Given the description of an element on the screen output the (x, y) to click on. 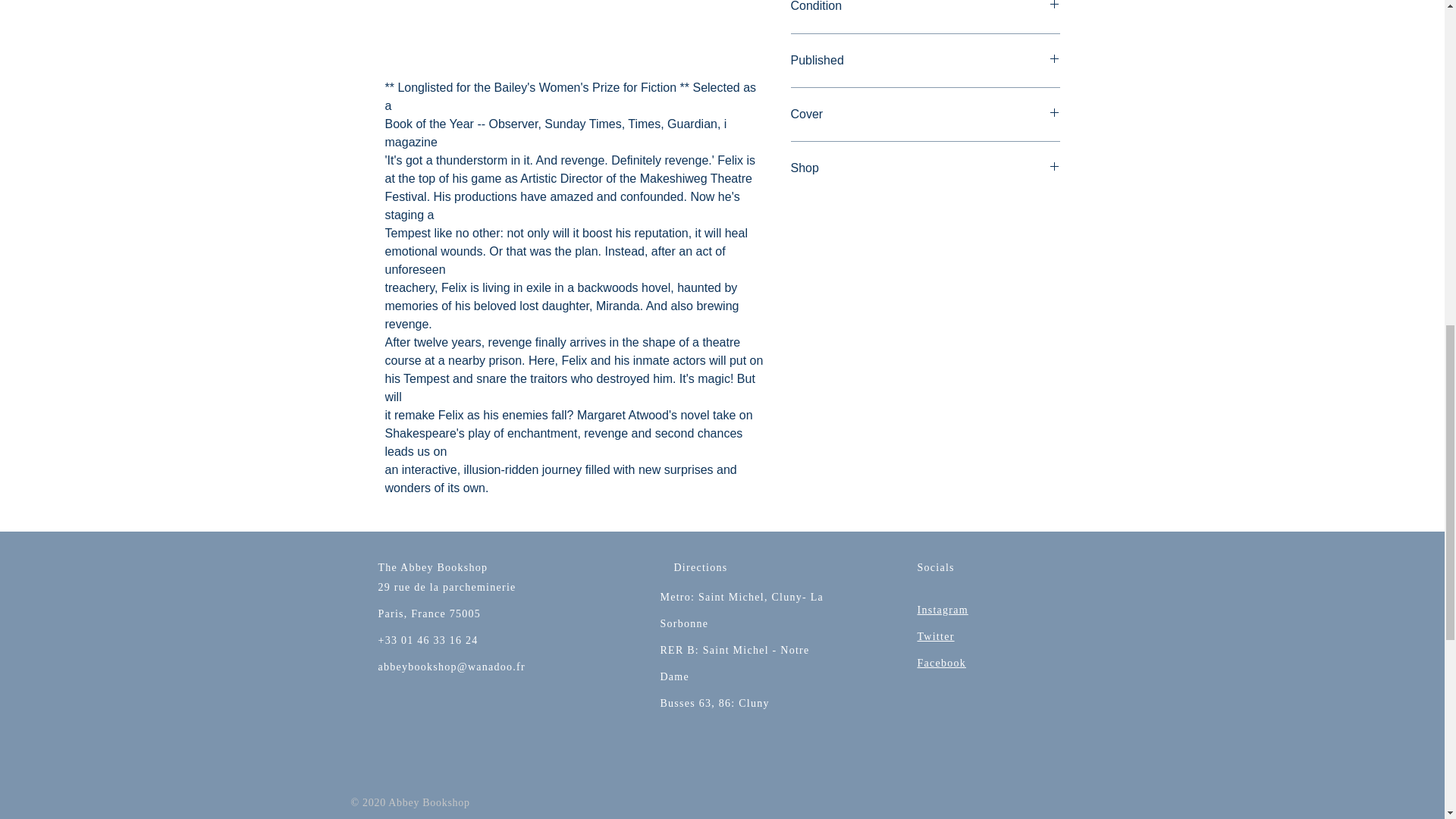
Shop (924, 167)
Published (924, 60)
RER B: Saint Michel - Notre Dame  (734, 663)
Cover (924, 114)
Busses 63, 86: Cluny (713, 703)
Instagram (942, 609)
Facebook (941, 662)
Condition (924, 7)
Metro: Saint Michel, Cluny- La Sorbonne (741, 610)
Twitter (936, 635)
